Given the description of an element on the screen output the (x, y) to click on. 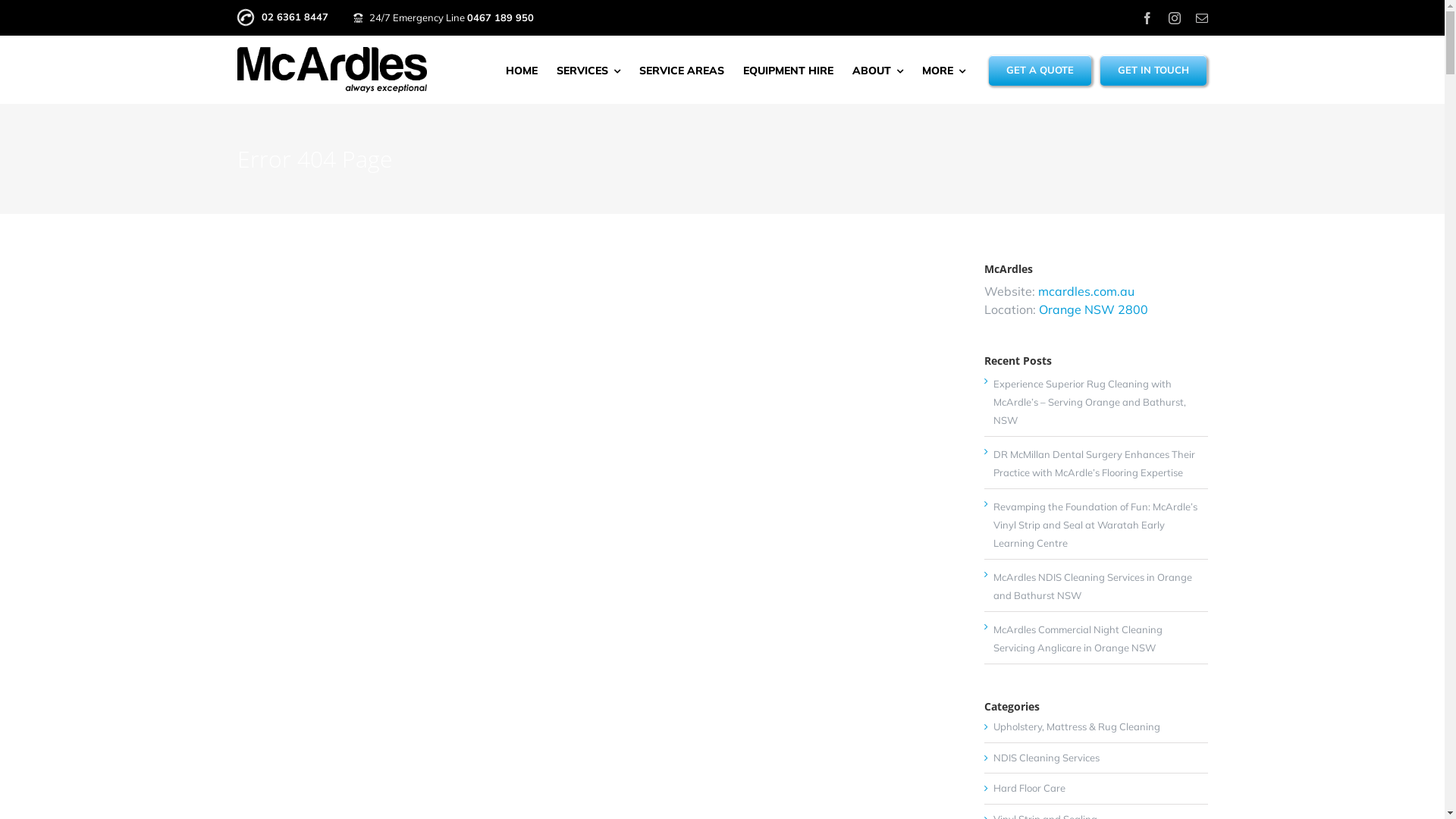
Upholstery, Mattress & Rug Cleaning Element type: text (1096, 726)
mcardles.com.au Element type: text (1084, 290)
Email Element type: hover (1201, 18)
McArdles NDIS Cleaning Services in Orange and Bathurst NSW Element type: text (1092, 586)
02 6361 8447 Element type: text (281, 16)
GET IN TOUCH Element type: text (1152, 69)
Hard Floor Care Element type: text (1096, 788)
EQUIPMENT HIRE Element type: text (788, 69)
SERVICES Element type: text (588, 69)
NDIS Cleaning Services Element type: text (1096, 757)
Facebook Element type: hover (1146, 18)
ABOUT Element type: text (877, 69)
SERVICE AREAS Element type: text (680, 69)
Orange NSW 2800 Element type: text (1091, 308)
0467 189 950 Element type: text (500, 17)
GET A QUOTE Element type: text (1039, 69)
MORE Element type: text (943, 69)
Instagram Element type: hover (1173, 18)
HOME Element type: text (520, 69)
